Given the description of an element on the screen output the (x, y) to click on. 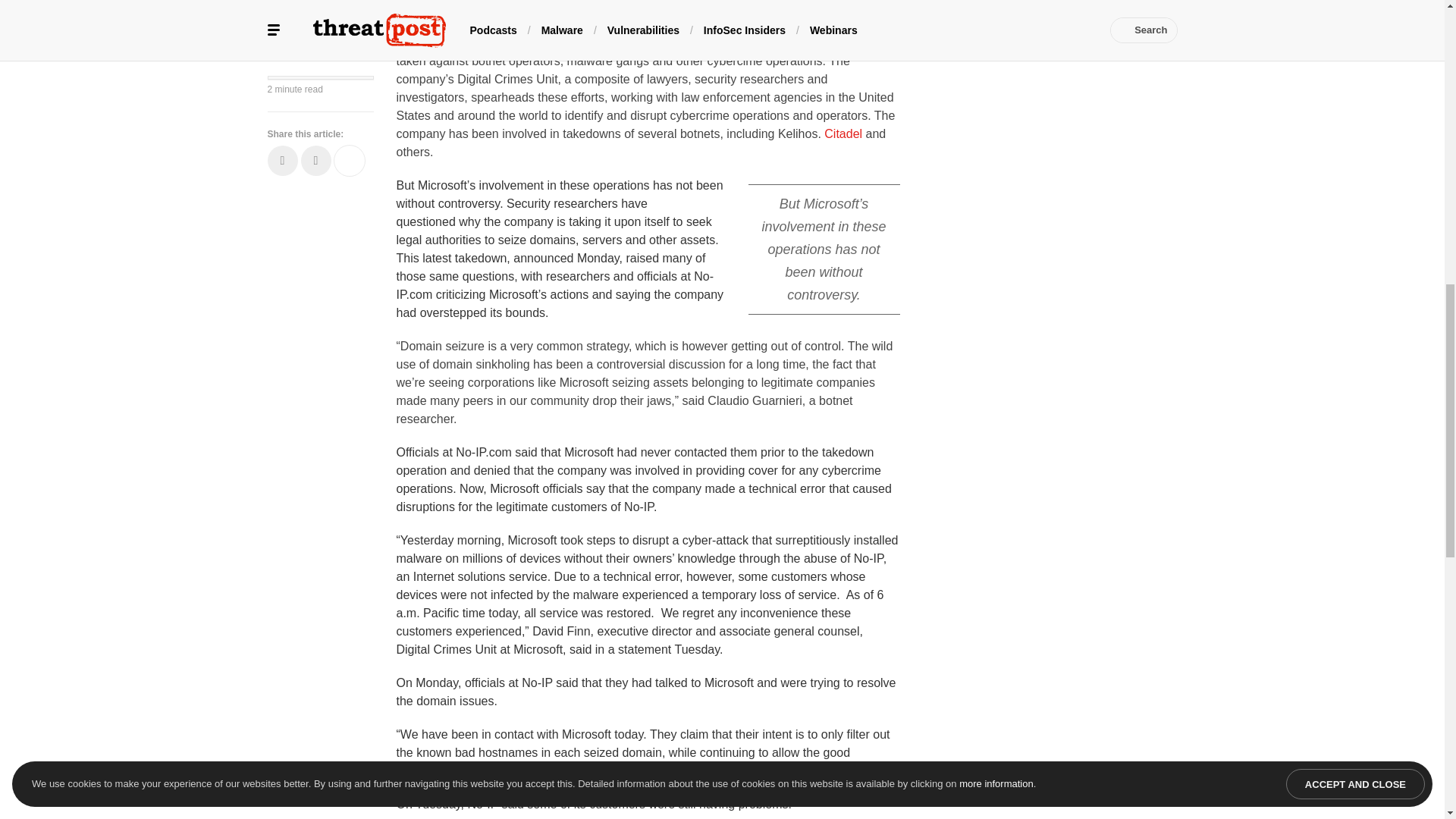
Share via Twitter (314, 46)
Citadel (842, 133)
Share via Facebook (281, 46)
Microsoft takedown (472, 24)
